Given the description of an element on the screen output the (x, y) to click on. 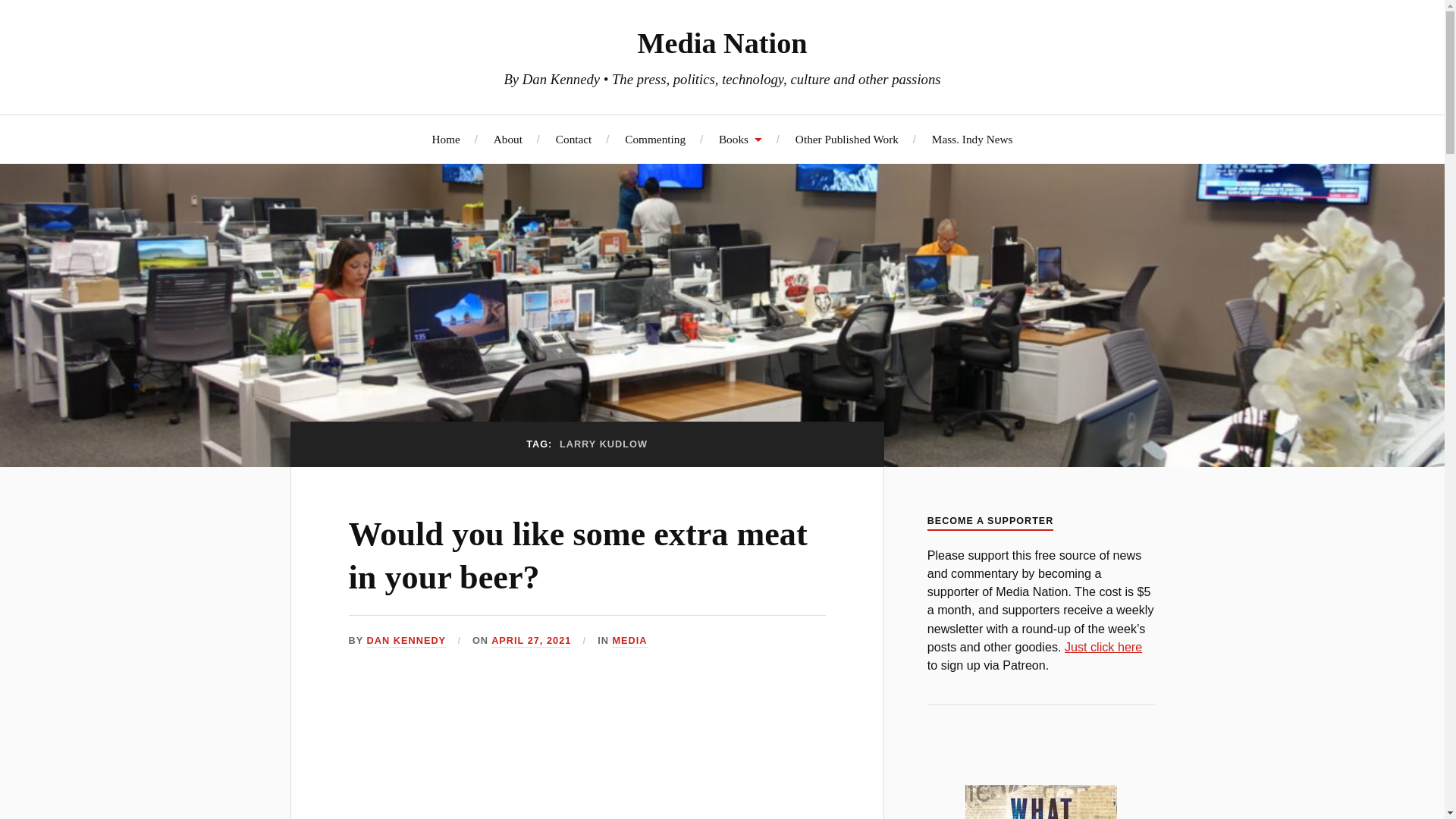
MEDIA (628, 640)
APRIL 27, 2021 (531, 640)
Commenting (654, 138)
Fawlty Towers: Volunteering to get some meat (587, 753)
Books (740, 138)
Media Nation (721, 42)
DAN KENNEDY (406, 640)
Would you like some extra meat in your beer? (578, 555)
Posts by Dan Kennedy (406, 640)
Mass. Indy News (972, 138)
Other Published Work (846, 138)
